Given the description of an element on the screen output the (x, y) to click on. 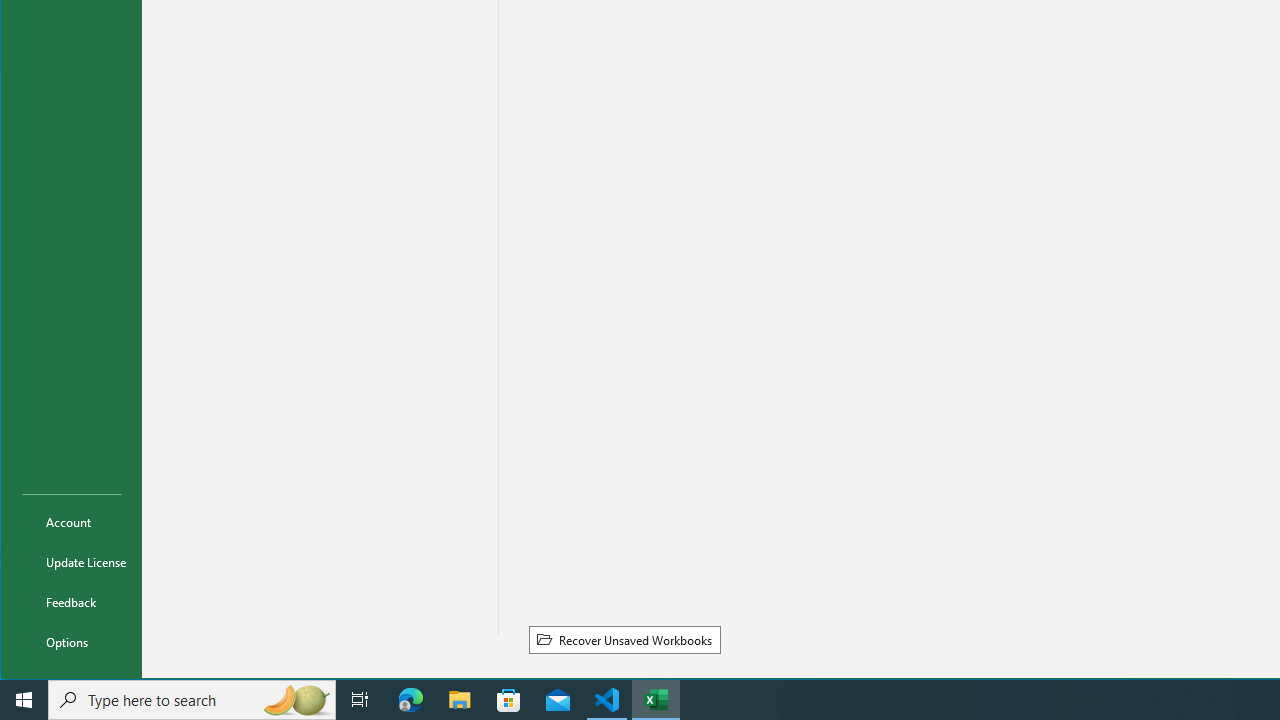
Feedback (72, 601)
Start (24, 699)
Type here to search (191, 699)
Search highlights icon opens search home window (295, 699)
Account (72, 521)
File Explorer (460, 699)
Update License (72, 561)
Visual Studio Code - 1 running window (607, 699)
Microsoft Edge (411, 699)
Recover Unsaved Workbooks (624, 639)
Excel - 1 running window (656, 699)
Options (72, 641)
Task View (359, 699)
Microsoft Store (509, 699)
